Given the description of an element on the screen output the (x, y) to click on. 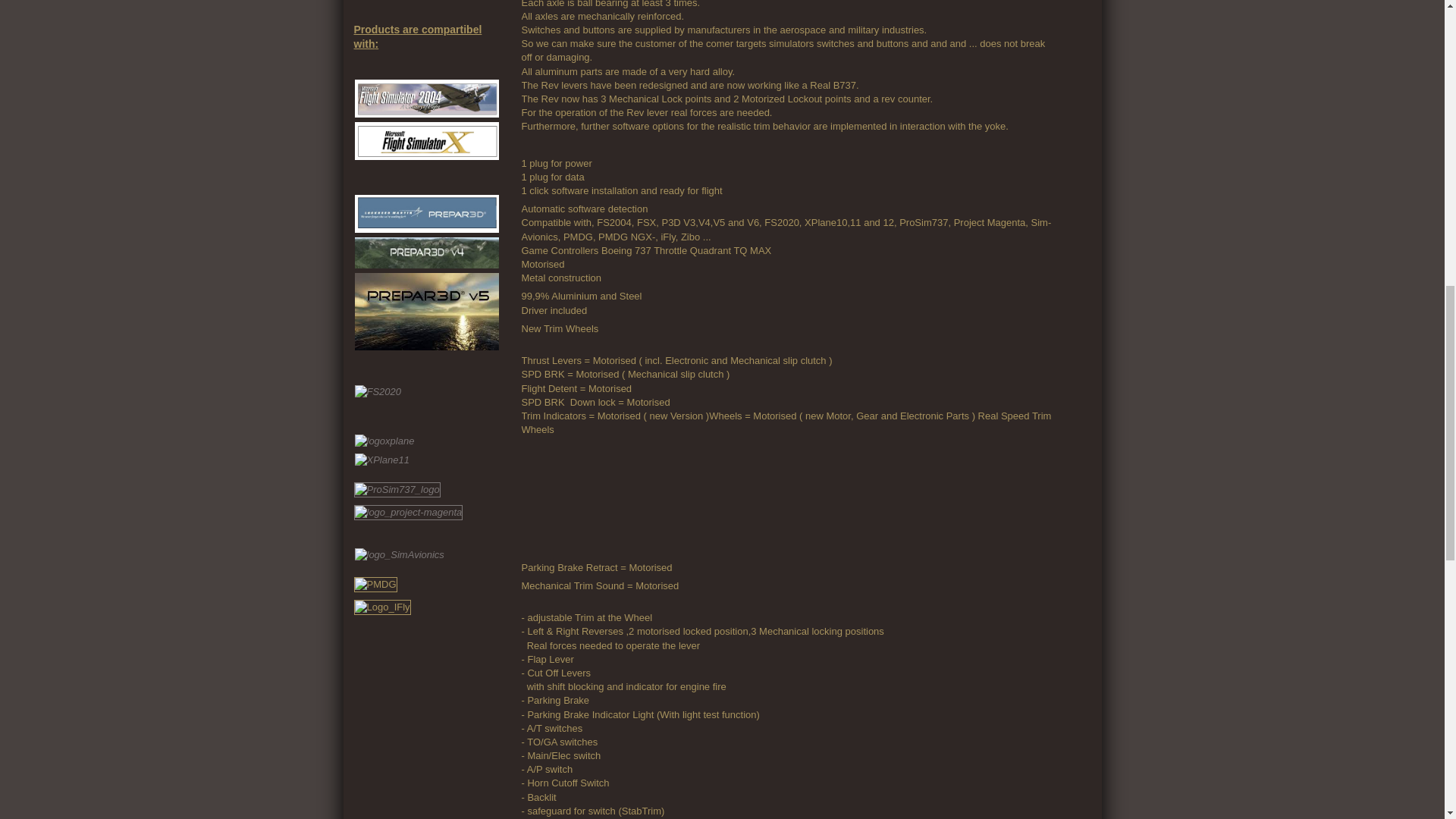
XPlane11 (427, 558)
App (597, 496)
logoxplane (427, 516)
logoprepar3d (427, 213)
FS2020 (427, 423)
